Given the description of an element on the screen output the (x, y) to click on. 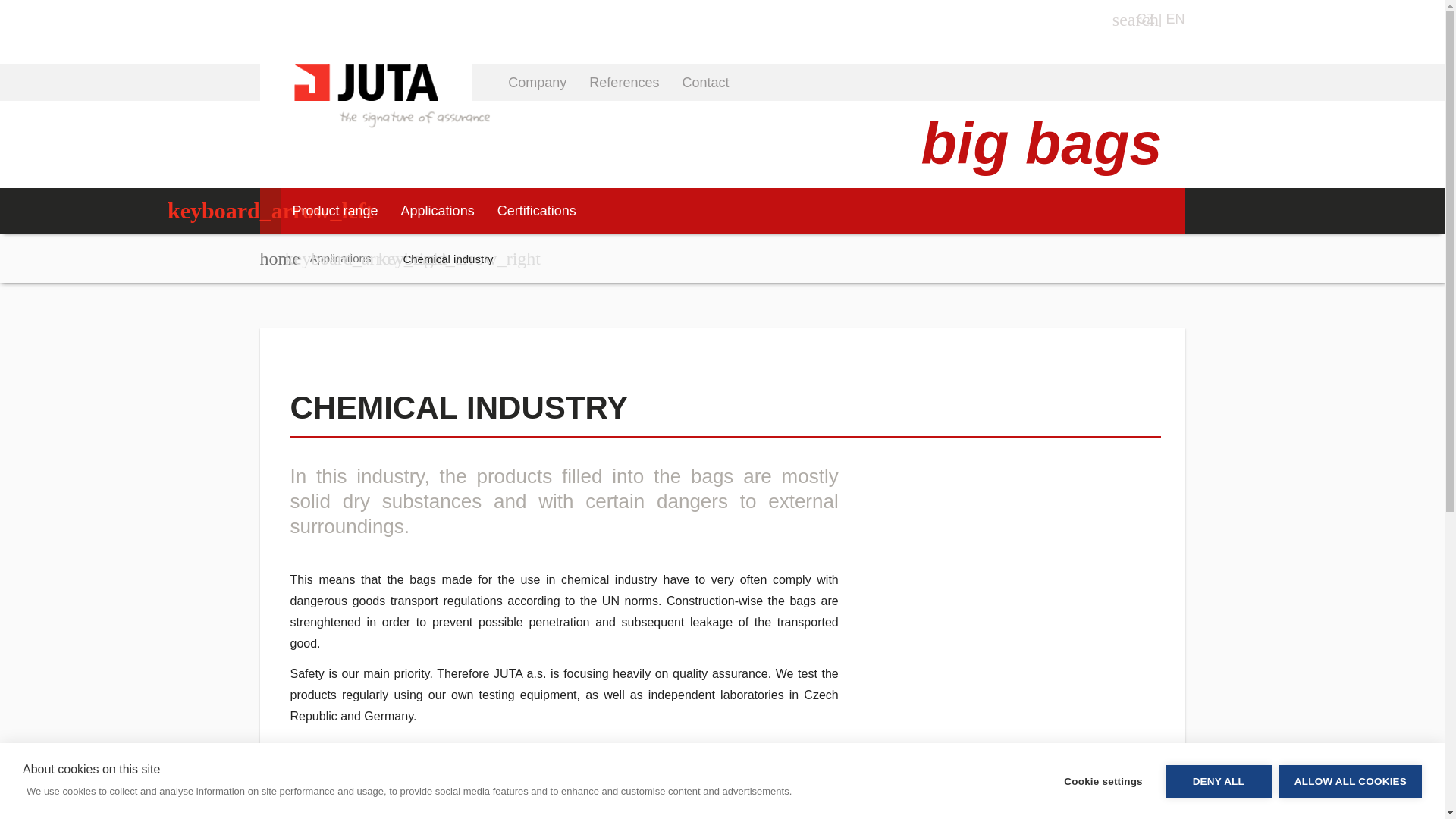
EN (1175, 18)
English (1175, 18)
Company (537, 82)
References (623, 82)
Contact (704, 82)
CZ (1145, 18)
search (1121, 19)
